Given the description of an element on the screen output the (x, y) to click on. 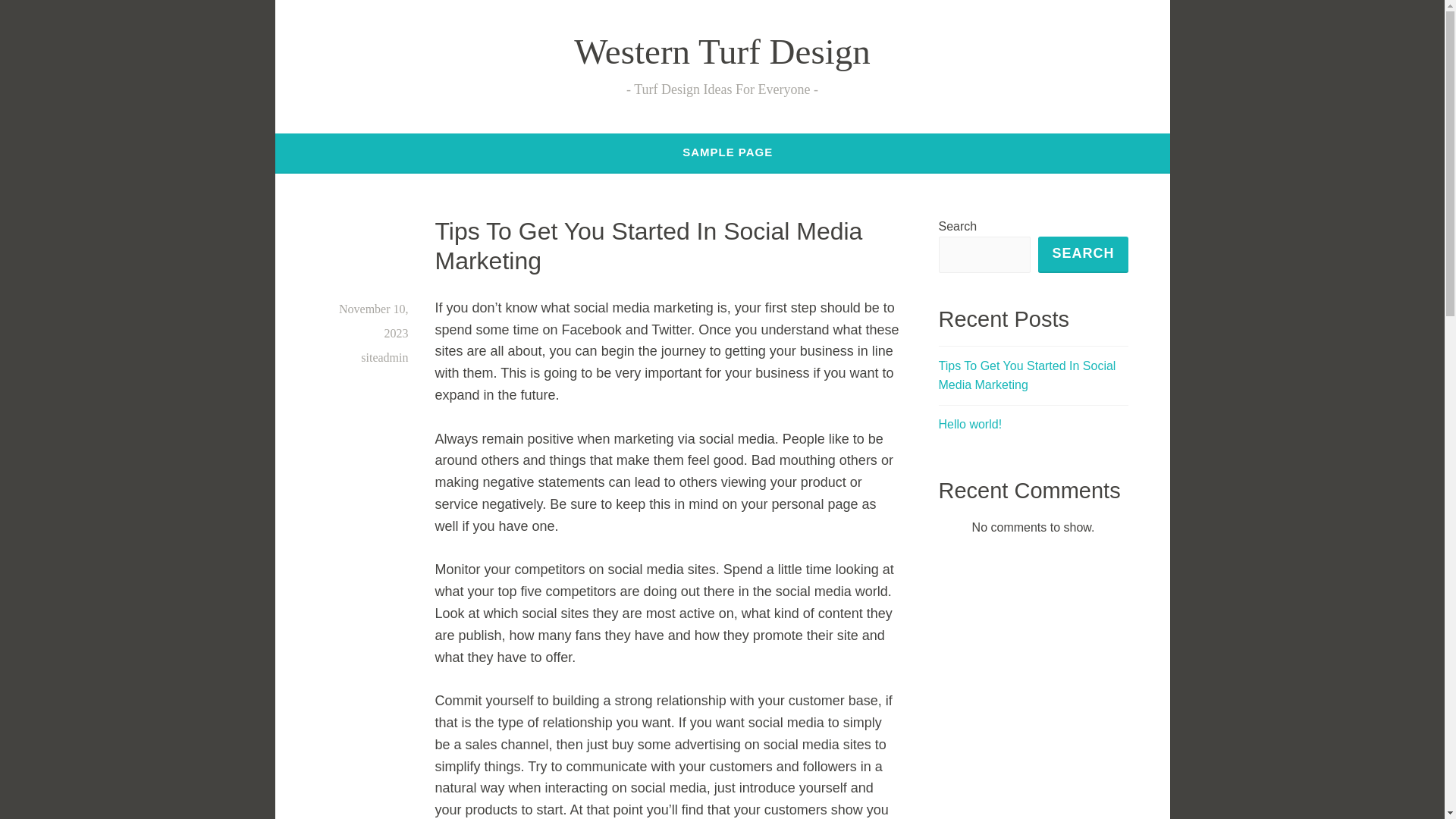
Western Turf Design (721, 51)
siteadmin (384, 357)
SAMPLE PAGE (727, 152)
November 10, 2023 (374, 320)
Tips To Get You Started In Social Media Marketing (649, 245)
